Given the description of an element on the screen output the (x, y) to click on. 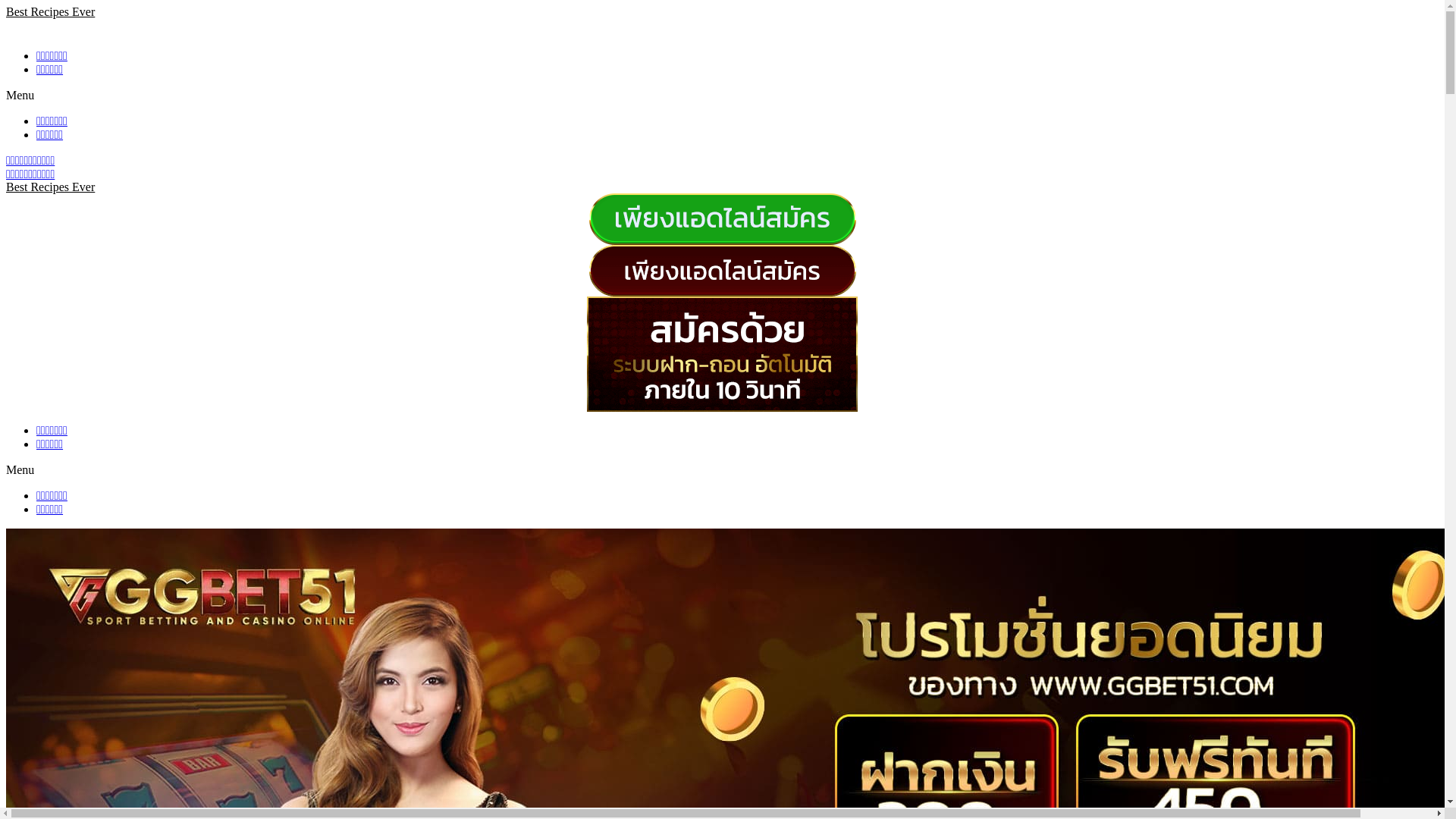
Best Recipes Ever Element type: text (50, 11)
Best Recipes Ever Element type: text (50, 186)
